Given the description of an element on the screen output the (x, y) to click on. 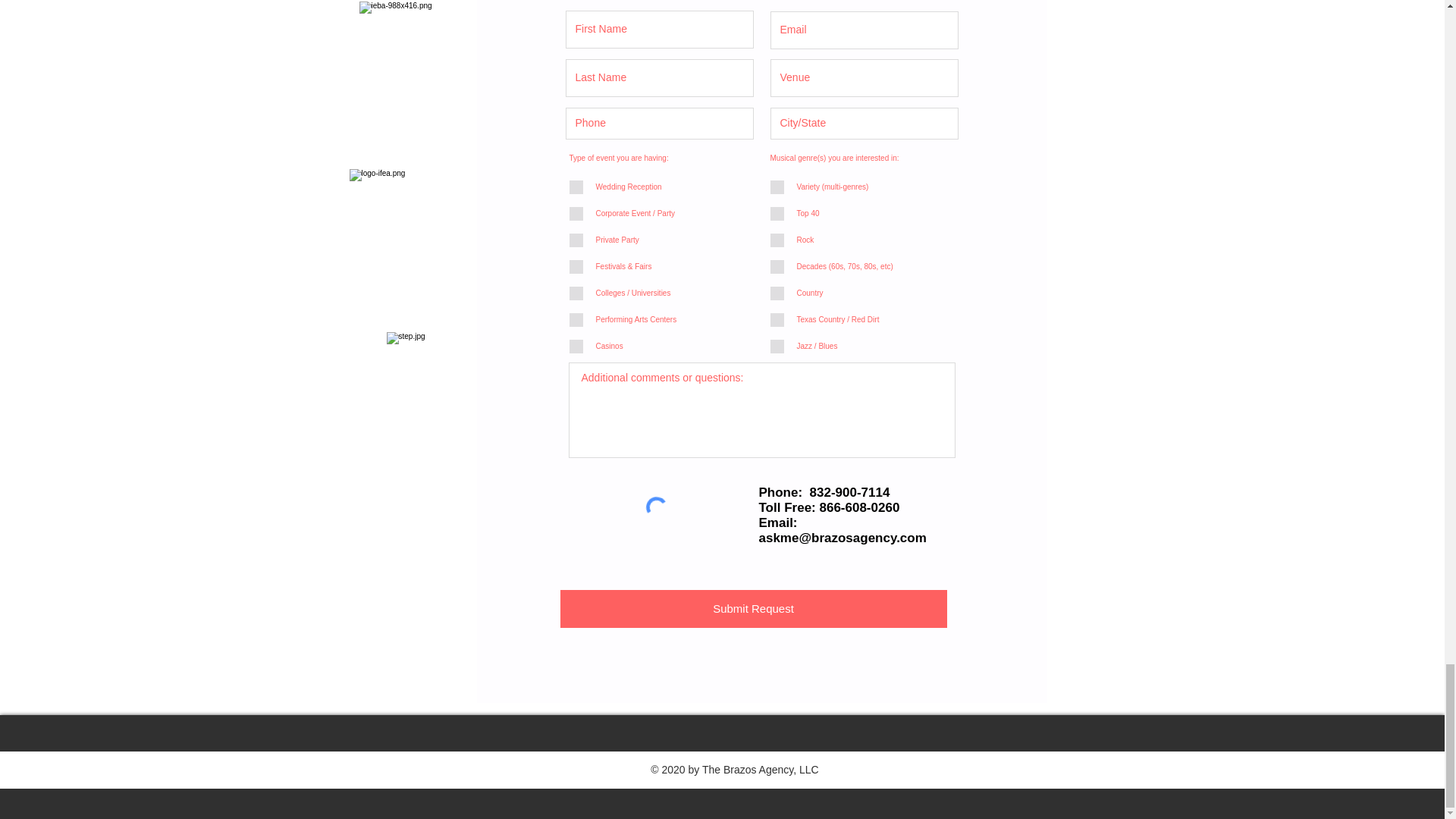
Submit Request (752, 607)
